Given the description of an element on the screen output the (x, y) to click on. 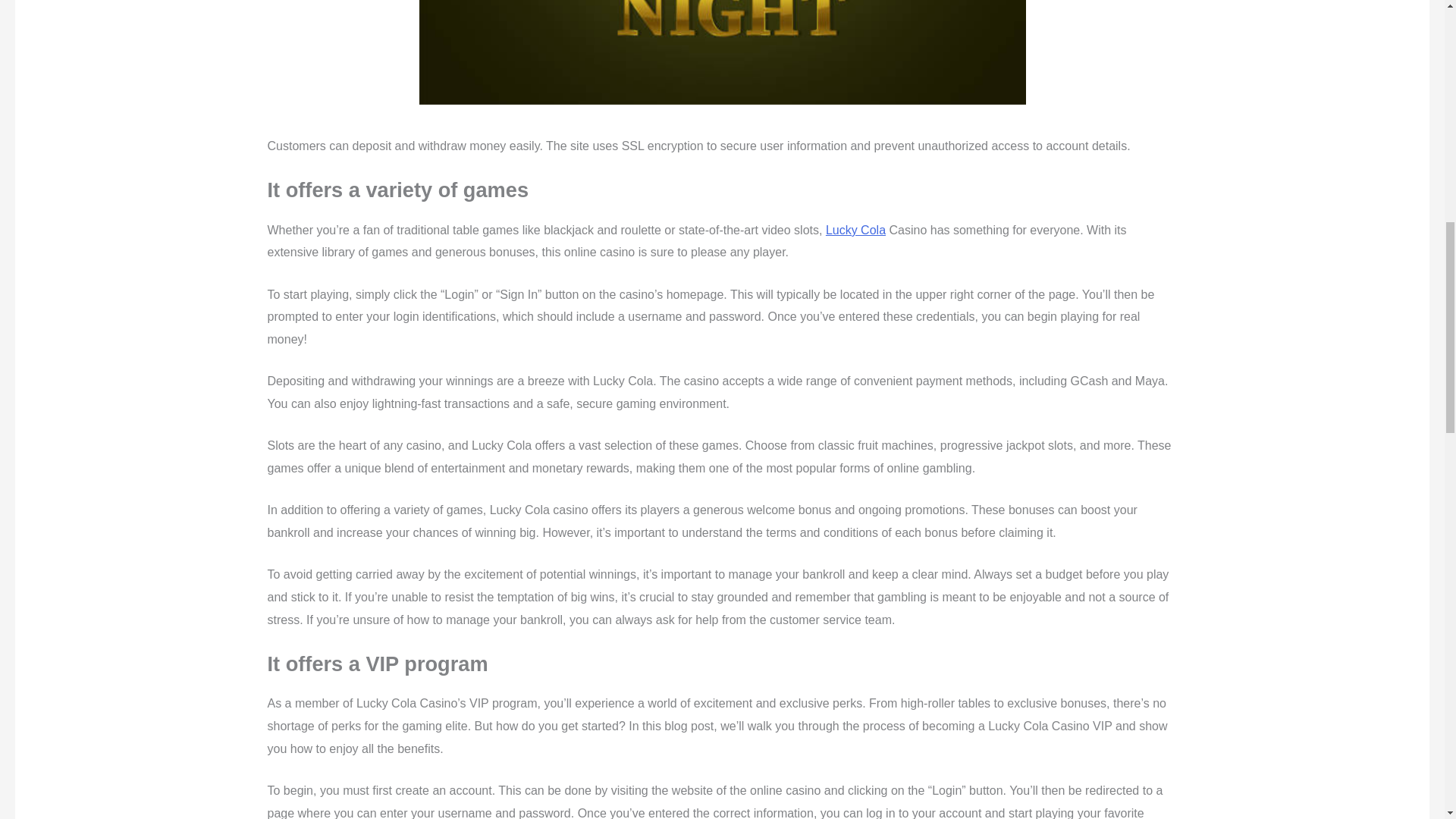
Lucky Cola (855, 229)
